Given the description of an element on the screen output the (x, y) to click on. 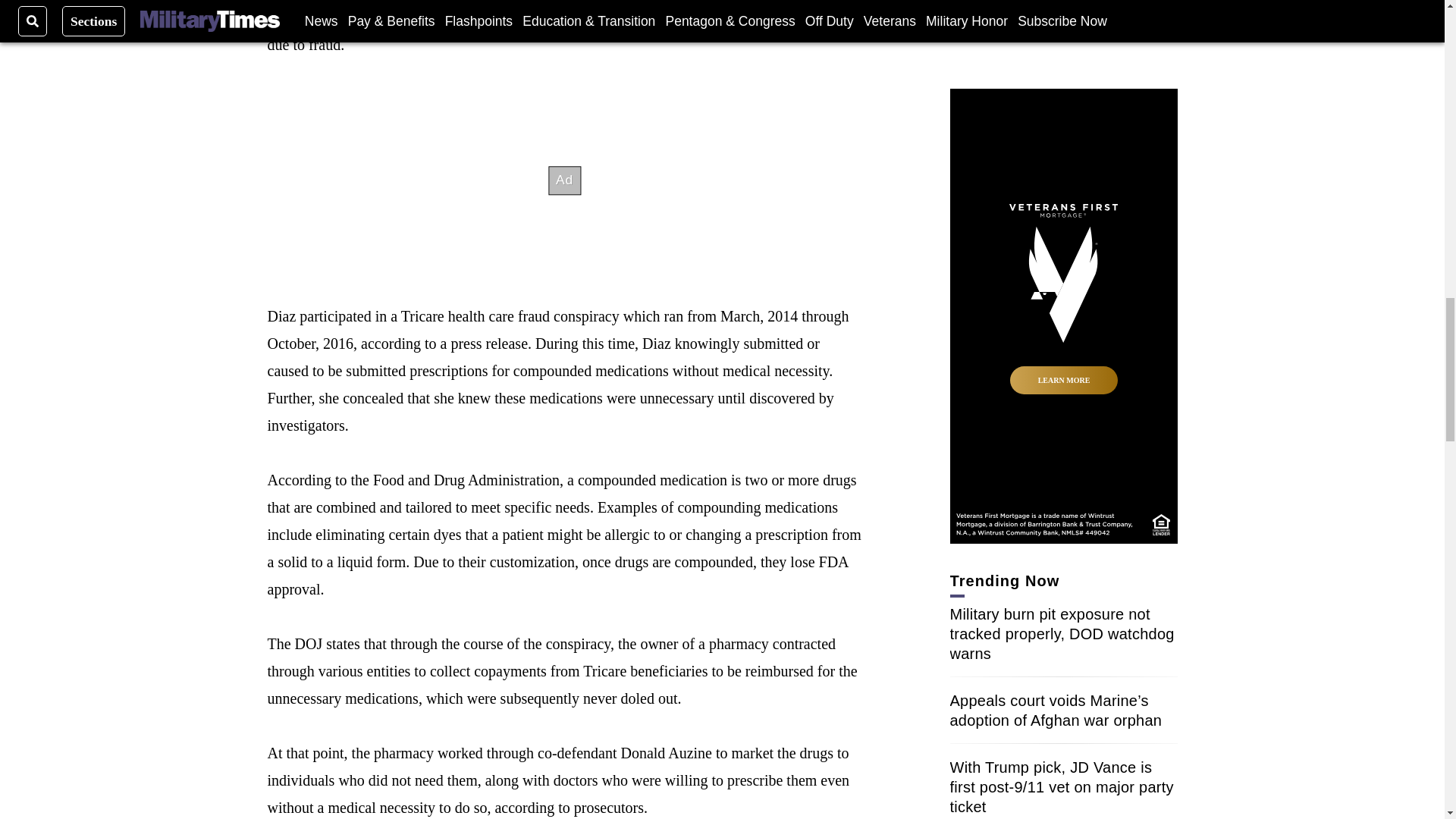
3rd party ad content (1062, 42)
